Given the description of an element on the screen output the (x, y) to click on. 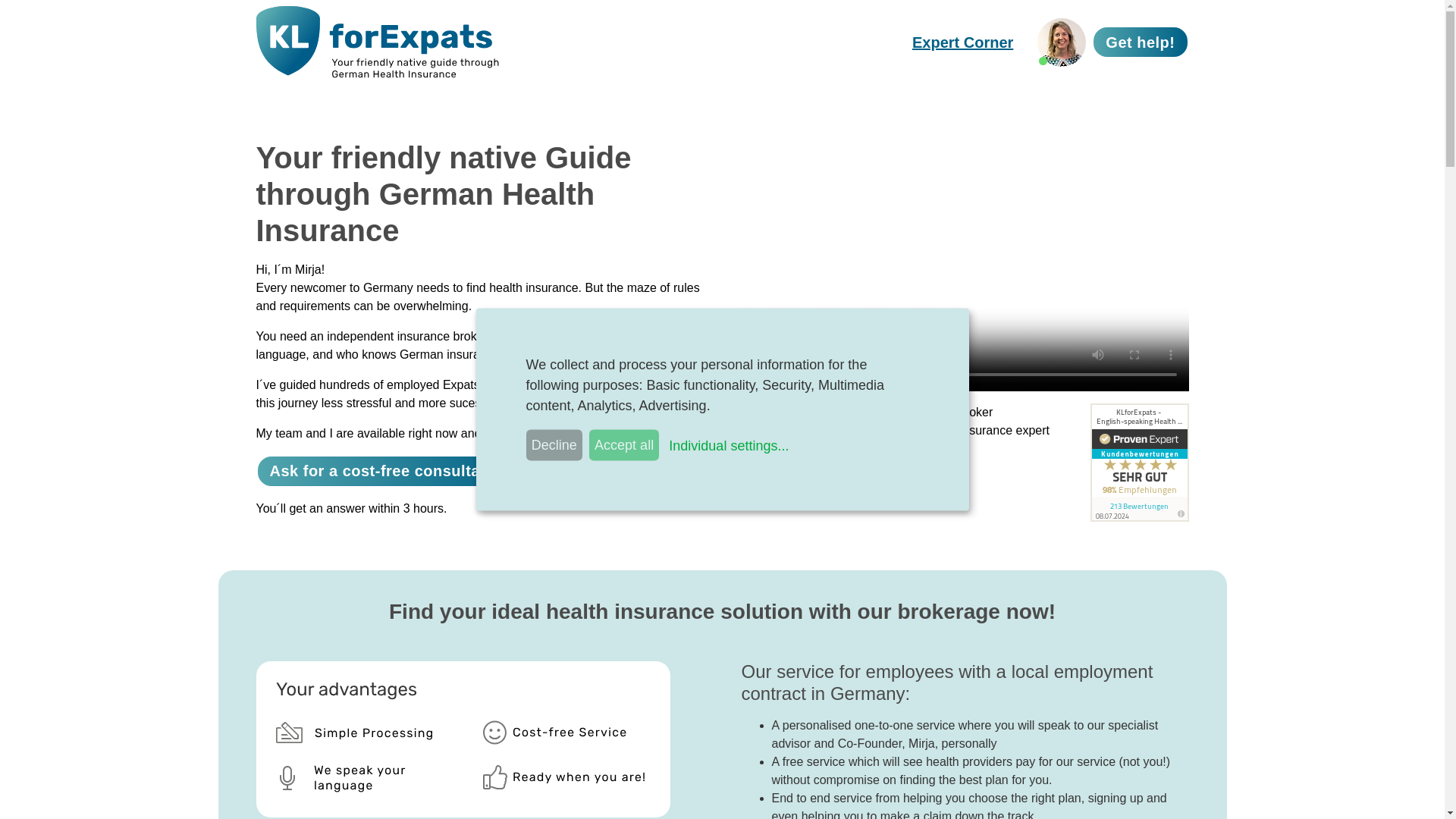
Get help! (1140, 41)
Expert Corner (962, 42)
Ask for a cost-free consultation (389, 471)
